Given the description of an element on the screen output the (x, y) to click on. 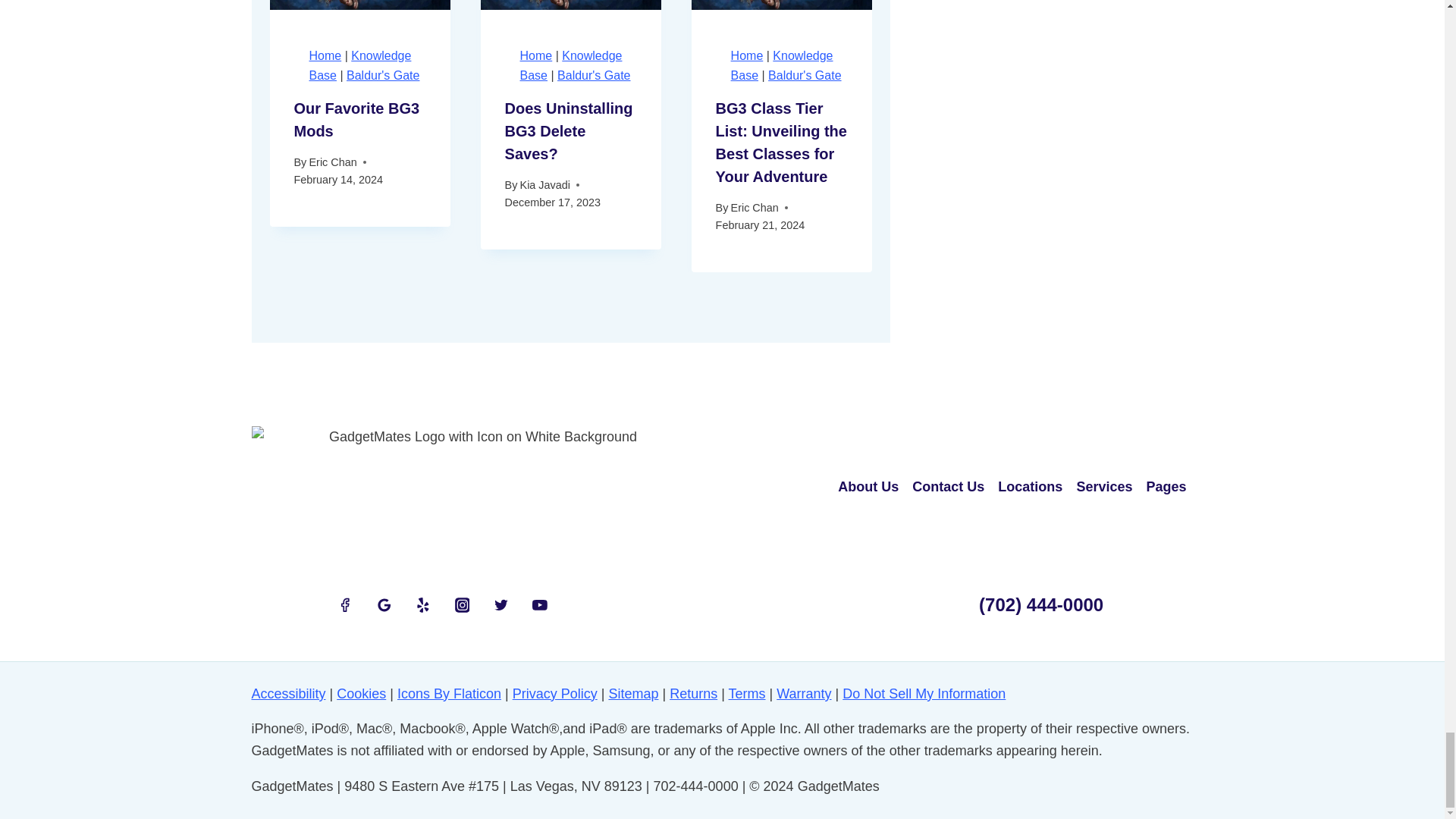
Our Favorite BG3 Mods 5 (359, 4)
Does Uninstalling BG3 Delete Saves? 6 (570, 4)
GadgetMates Footer Logo (477, 486)
